Given the description of an element on the screen output the (x, y) to click on. 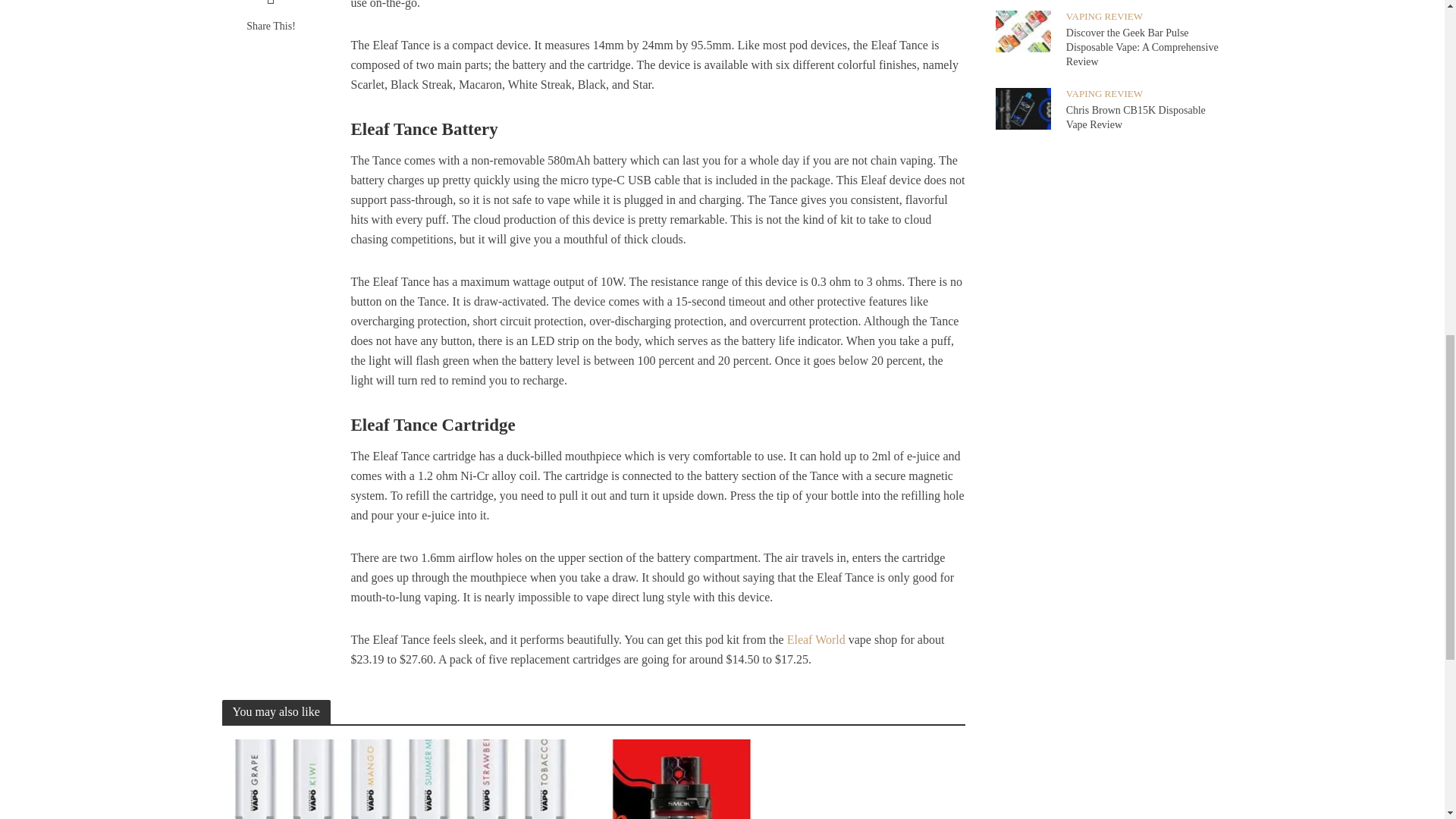
Prolonging Your Coils with Your Sub-ohm Tanks (1089, 48)
What You Need to Know About Cloud Chasing and Sub Ohm Vaping (403, 48)
Chris Brown CB15K Disposable Vape Review (1021, 107)
Eleaf World (816, 641)
